Given the description of an element on the screen output the (x, y) to click on. 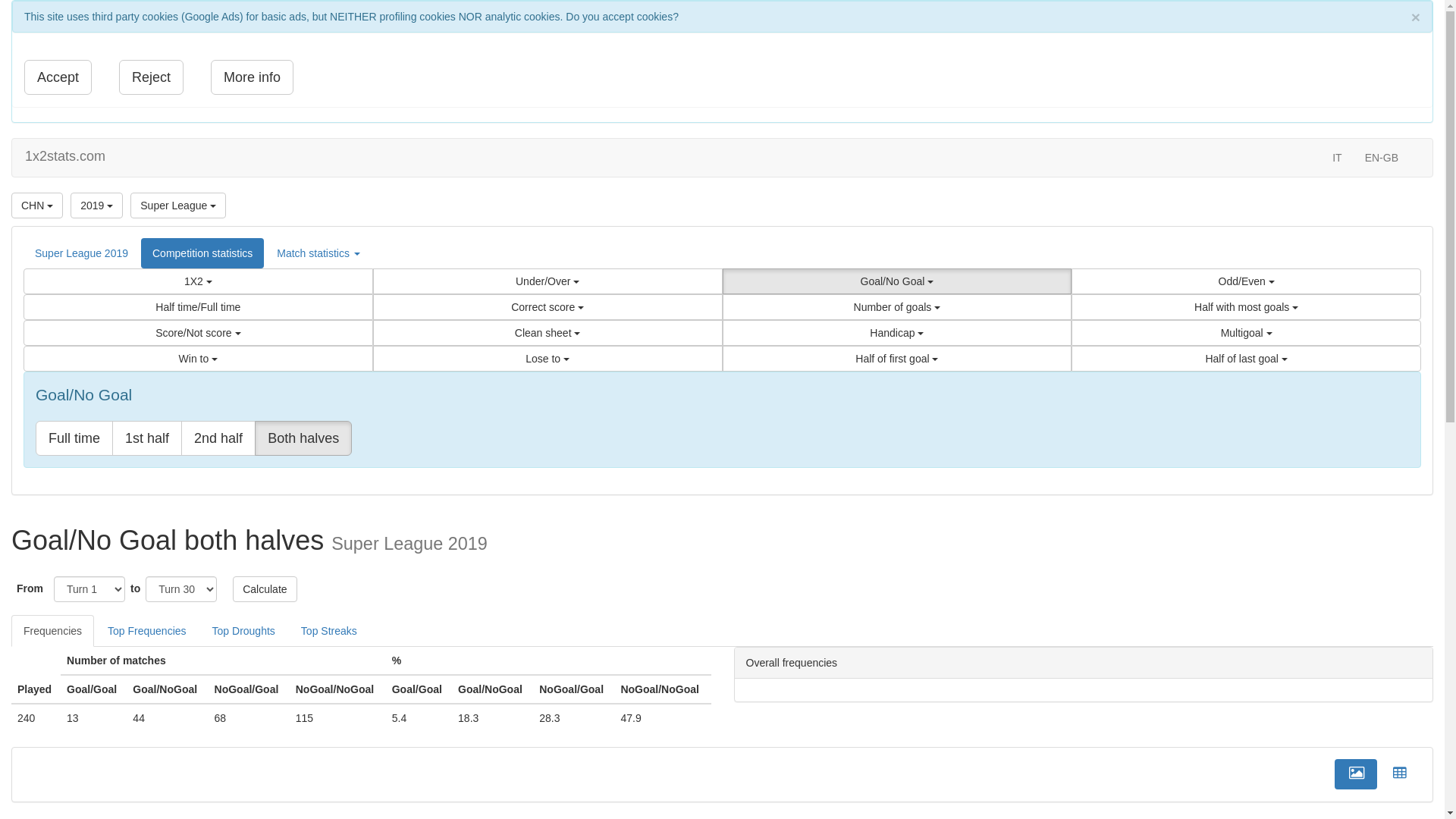
Both halves Element type: text (302, 437)
Calculate Element type: text (264, 589)
Top Frequencies Element type: text (146, 630)
Full time Element type: text (73, 437)
Half of first goal Element type: text (896, 358)
Correct score Element type: text (547, 307)
Score/Not score Element type: text (198, 332)
Win to Element type: text (198, 358)
Goal/No Goal Element type: text (896, 281)
Half of last goal Element type: text (1246, 358)
Top Streaks Element type: text (328, 630)
Lose to Element type: text (547, 358)
EN-GB Element type: text (1381, 157)
Top Droughts Element type: text (243, 630)
Super League Element type: text (177, 205)
IT Element type: text (1336, 157)
Odd/Even Element type: text (1246, 281)
Frequencies Element type: text (52, 630)
Half with most goals Element type: text (1246, 307)
2019 Element type: text (96, 205)
1x2stats.com Element type: text (65, 155)
More info Element type: text (251, 76)
Match statistics Element type: text (318, 253)
Super League 2019 Element type: text (81, 253)
Clean sheet Element type: text (547, 332)
Competition statistics Element type: text (202, 253)
Half time/Full time Element type: text (198, 307)
Accept Element type: text (57, 76)
2nd half Element type: text (218, 437)
Under/Over Element type: text (547, 281)
Number of goals Element type: text (896, 307)
1X2 Element type: text (198, 281)
Multigoal Element type: text (1246, 332)
Handicap Element type: text (896, 332)
Reject Element type: text (151, 76)
1st half Element type: text (147, 437)
CHN Element type: text (36, 205)
